Given the description of an element on the screen output the (x, y) to click on. 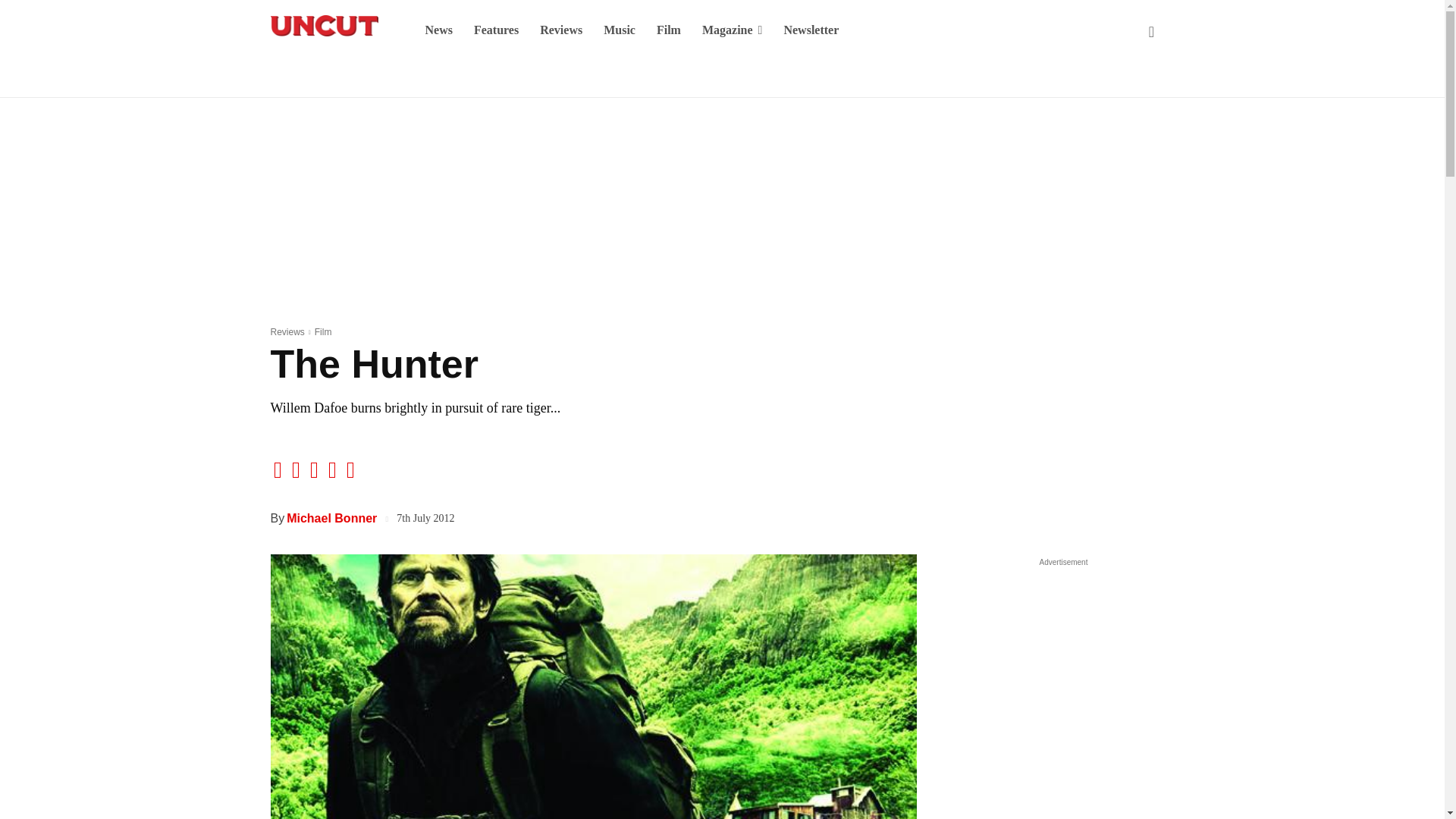
View all posts in Reviews (286, 331)
Features (496, 30)
View all posts in Film (322, 331)
Magazine (732, 30)
Reviews (560, 30)
Newsletter (810, 30)
Uncut Logo (323, 25)
